Given the description of an element on the screen output the (x, y) to click on. 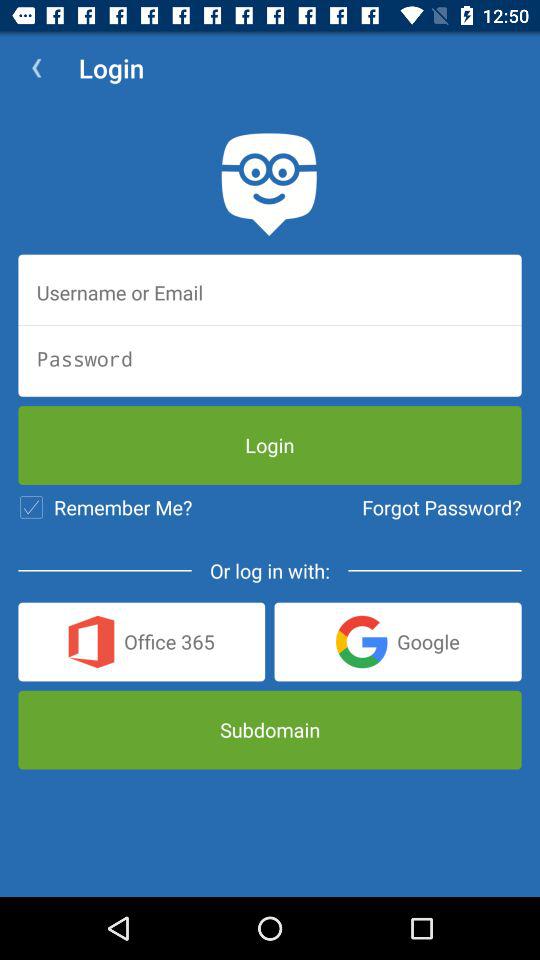
open icon to the left of forgot password? item (105, 507)
